Given the description of an element on the screen output the (x, y) to click on. 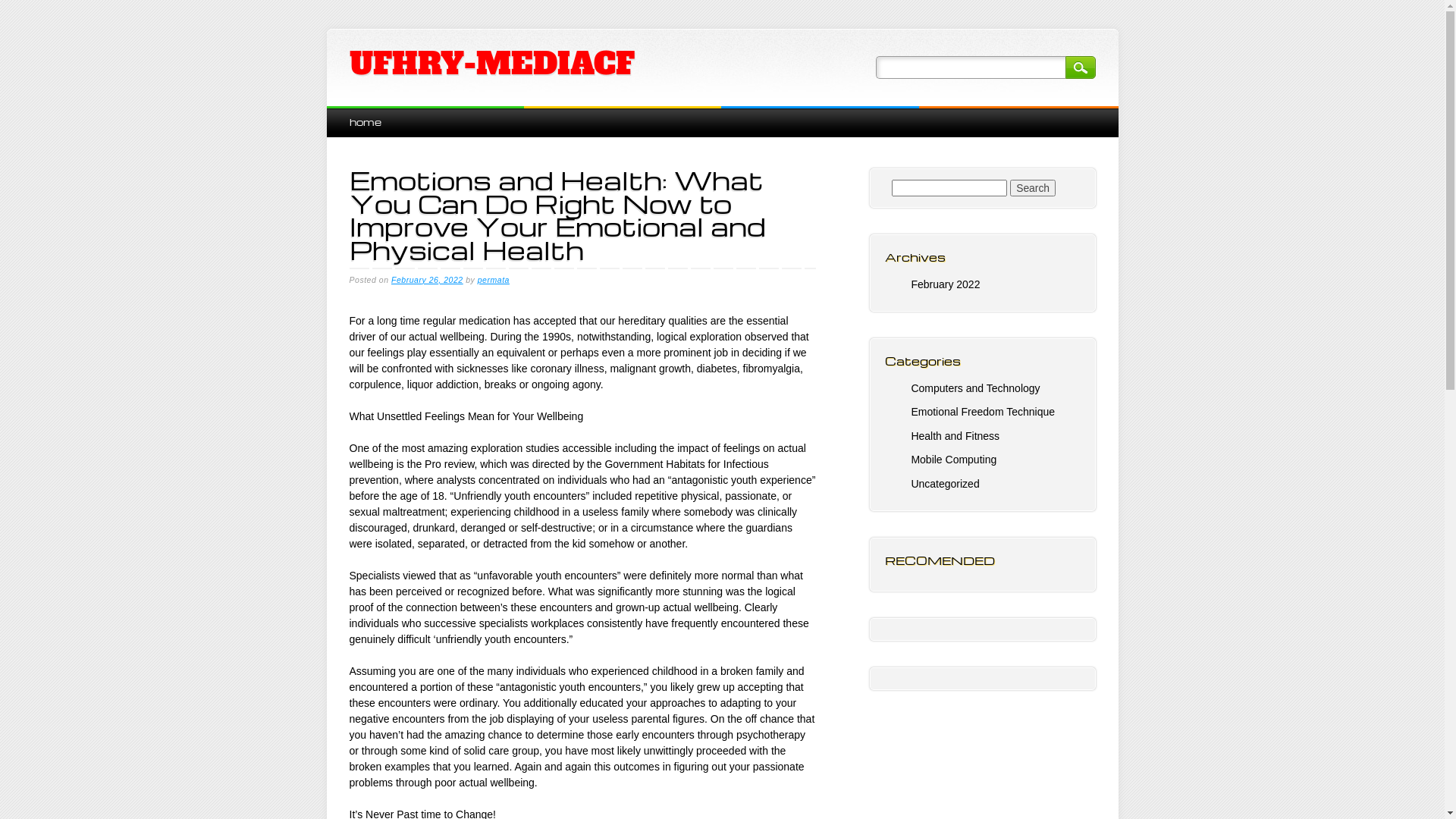
Emotional Freedom Technique Element type: text (982, 411)
Search Element type: text (1032, 187)
permata Element type: text (493, 279)
Mobile Computing Element type: text (953, 459)
Uncategorized Element type: text (944, 483)
UFHRY-MEDIACF Element type: text (490, 63)
Skip to content Element type: text (361, 113)
Health and Fitness Element type: text (954, 435)
Search Element type: text (1079, 67)
February 26, 2022 Element type: text (427, 279)
Computers and Technology Element type: text (974, 388)
February 2022 Element type: text (944, 284)
home Element type: text (364, 121)
